Given the description of an element on the screen output the (x, y) to click on. 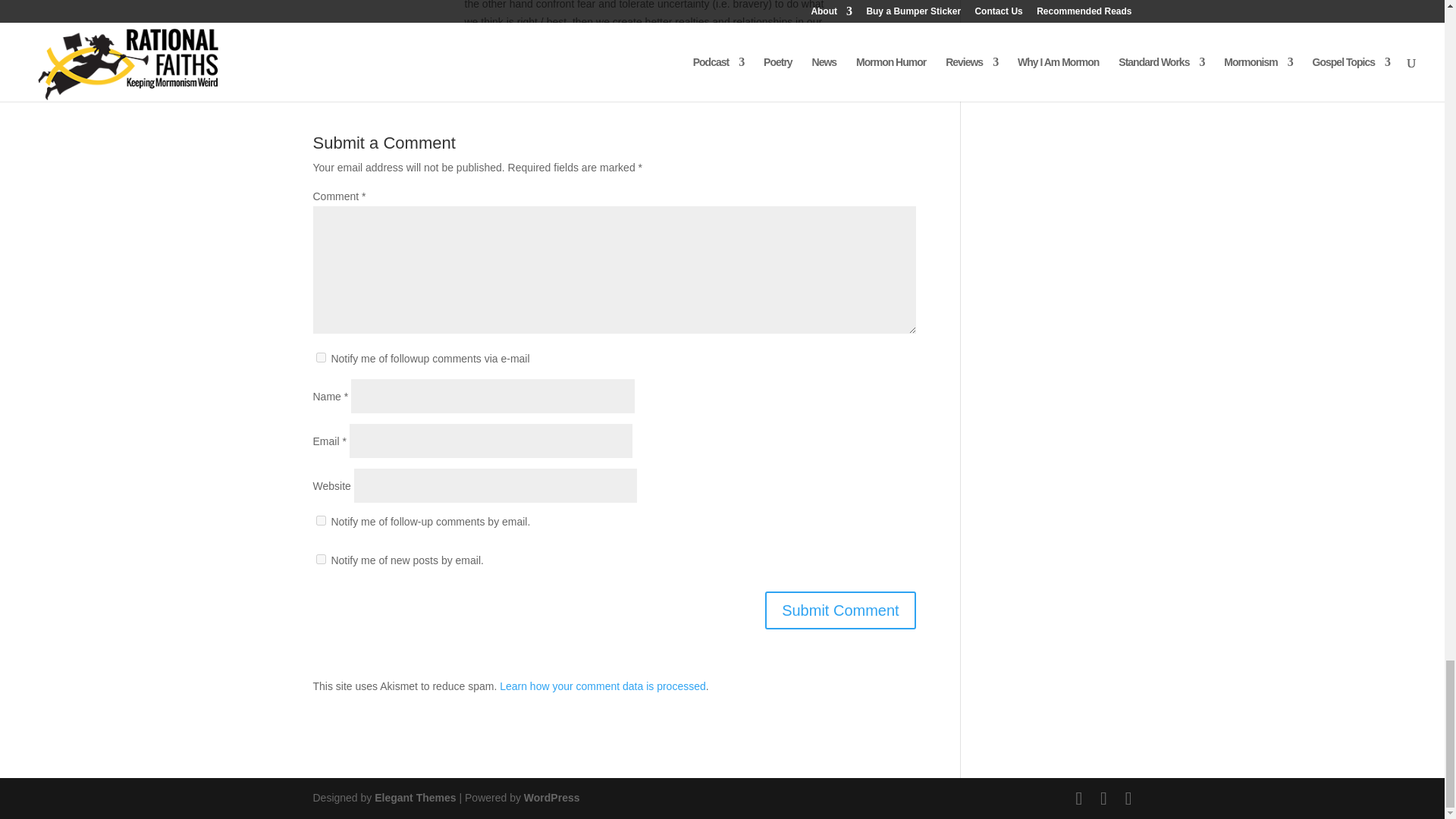
subscribe (319, 520)
subscribe (319, 357)
subscribe (319, 559)
Submit Comment (840, 610)
